Given the description of an element on the screen output the (x, y) to click on. 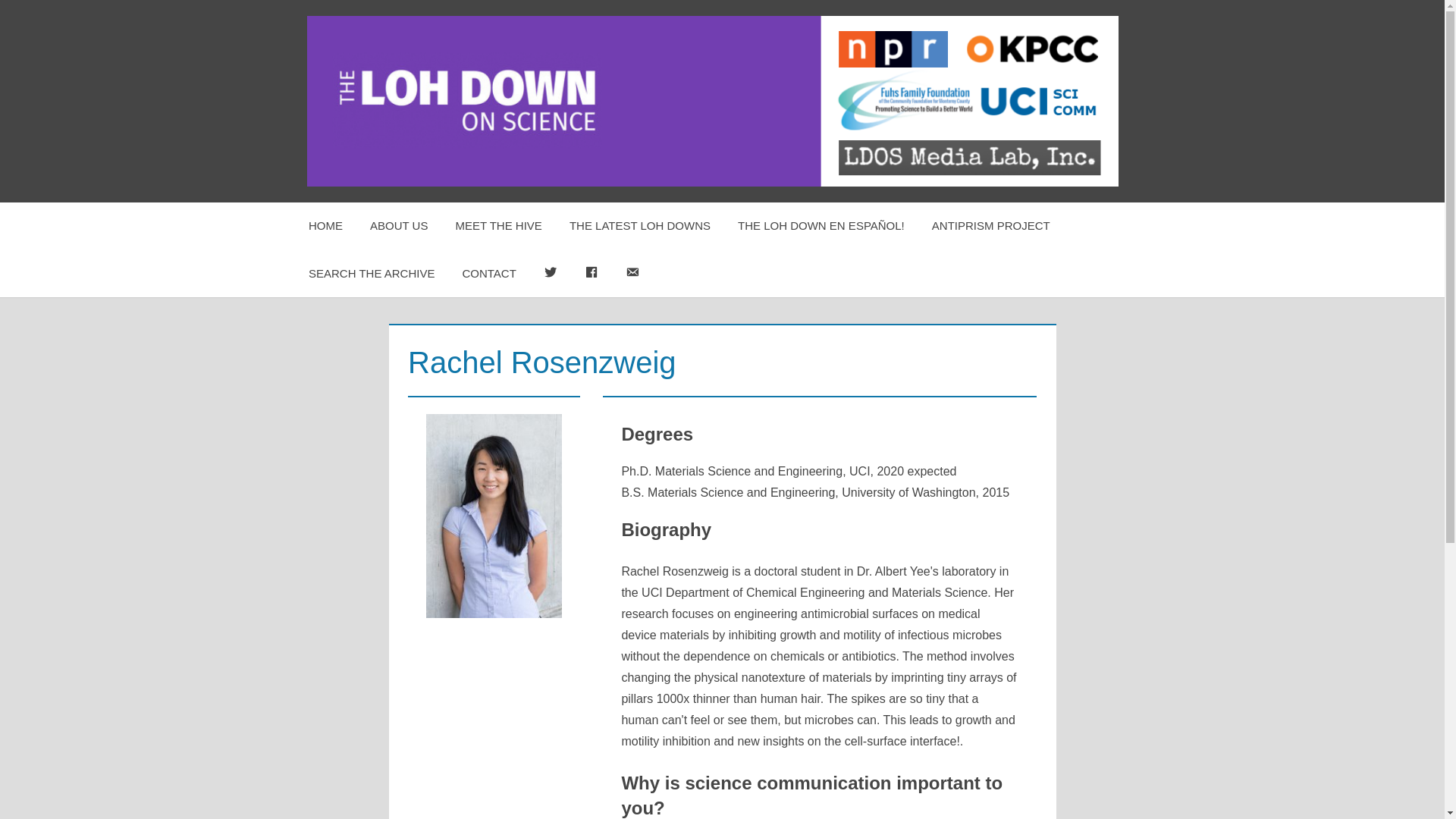
ABOUT US (398, 225)
HOME (325, 225)
SEARCH THE ARCHIVE (371, 273)
THE LATEST LOH DOWNS (639, 225)
ANTIPRISM PROJECT (991, 225)
CONTACT (488, 273)
MEET THE HIVE (497, 225)
